Given the description of an element on the screen output the (x, y) to click on. 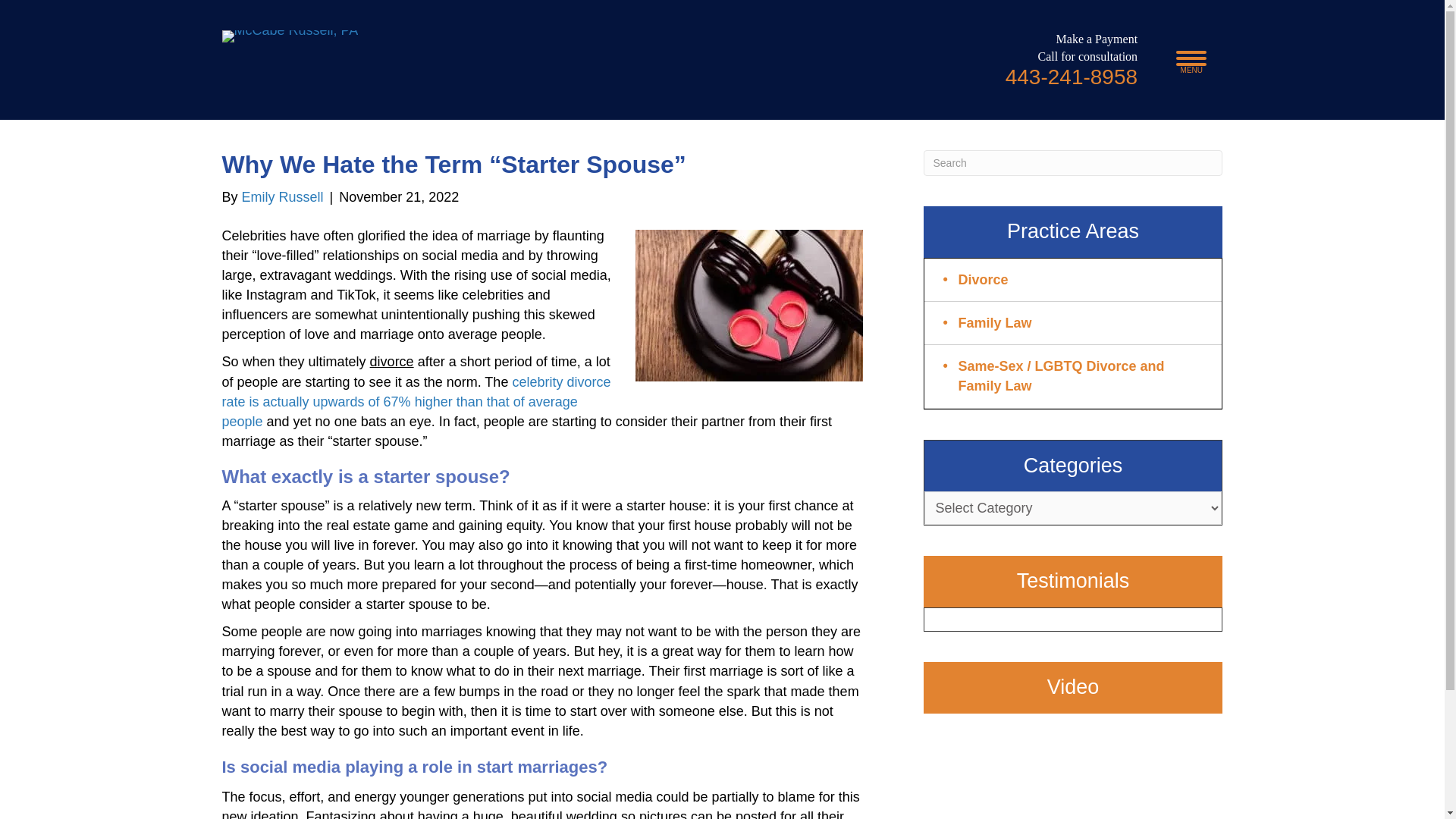
McCabe Russell, PA (289, 36)
Make a Payment (1097, 38)
Type and press Enter to search. (1073, 162)
443-241-8958 (1071, 76)
